Given the description of an element on the screen output the (x, y) to click on. 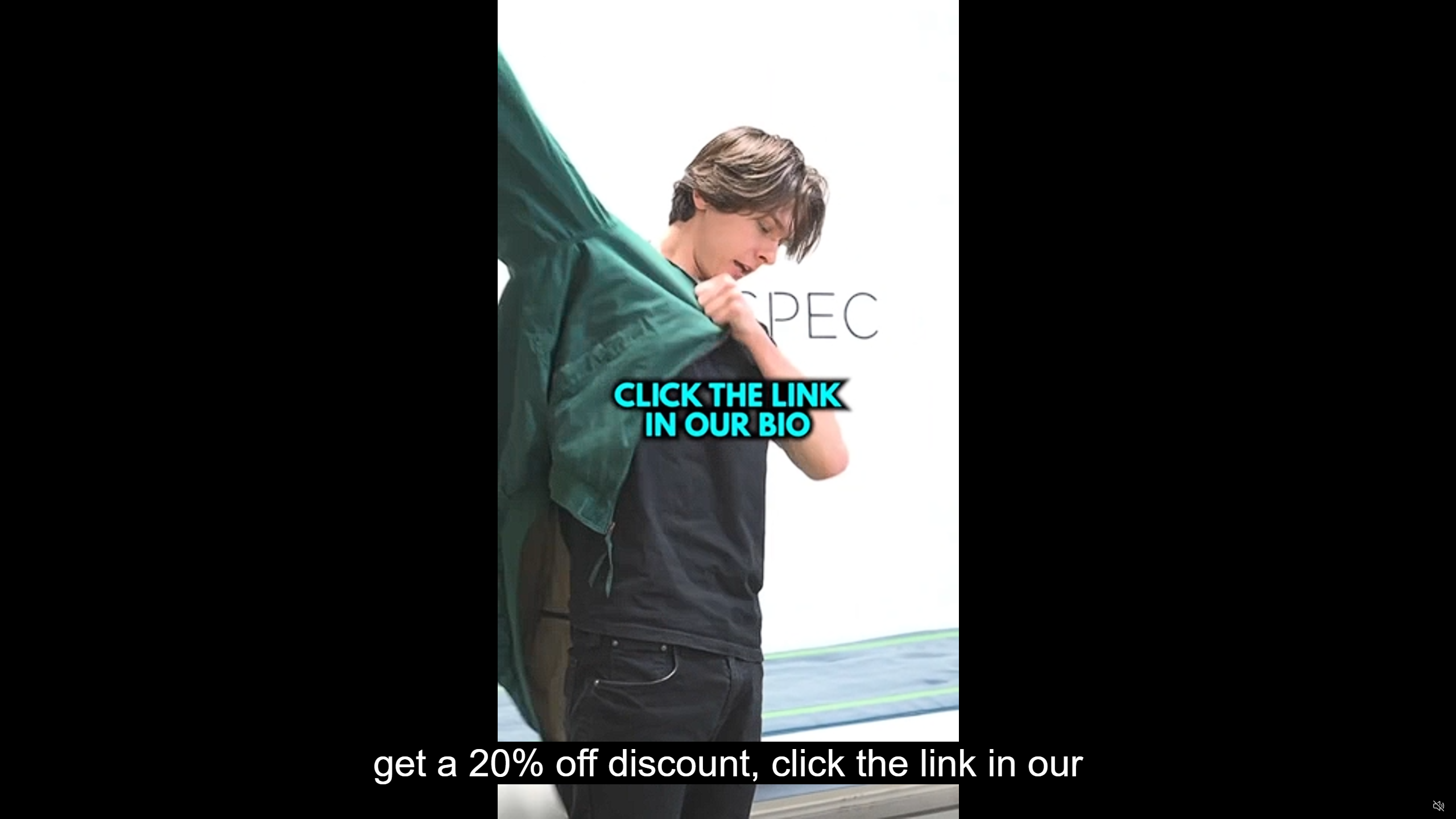
Seek Back (39, 806)
Captions (1394, 806)
Quality Settings (1371, 806)
Progress Bar (727, 791)
Non-Fullscreen (1417, 806)
Unmute (1438, 805)
Pause (17, 806)
Seek Forward (62, 806)
